Given the description of an element on the screen output the (x, y) to click on. 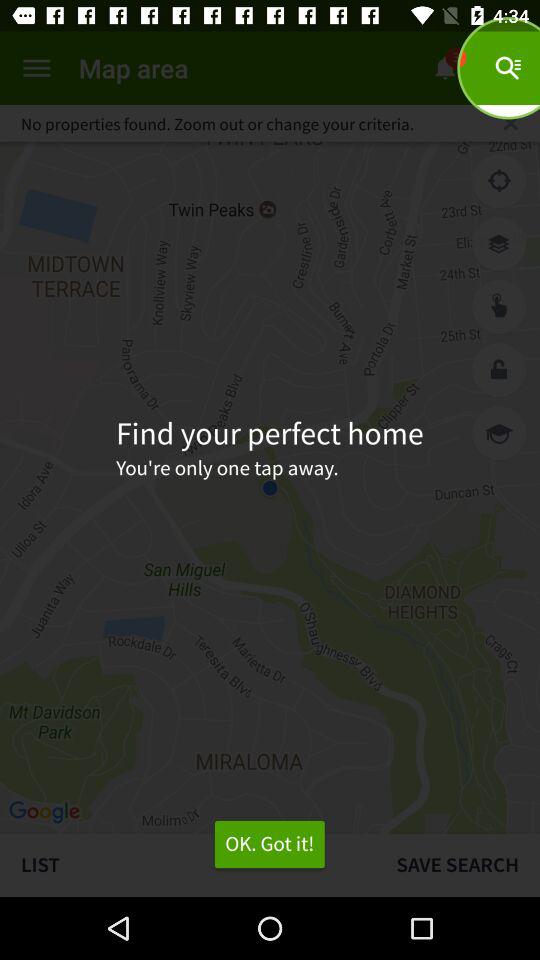
click item next to no properties found (510, 123)
